Given the description of an element on the screen output the (x, y) to click on. 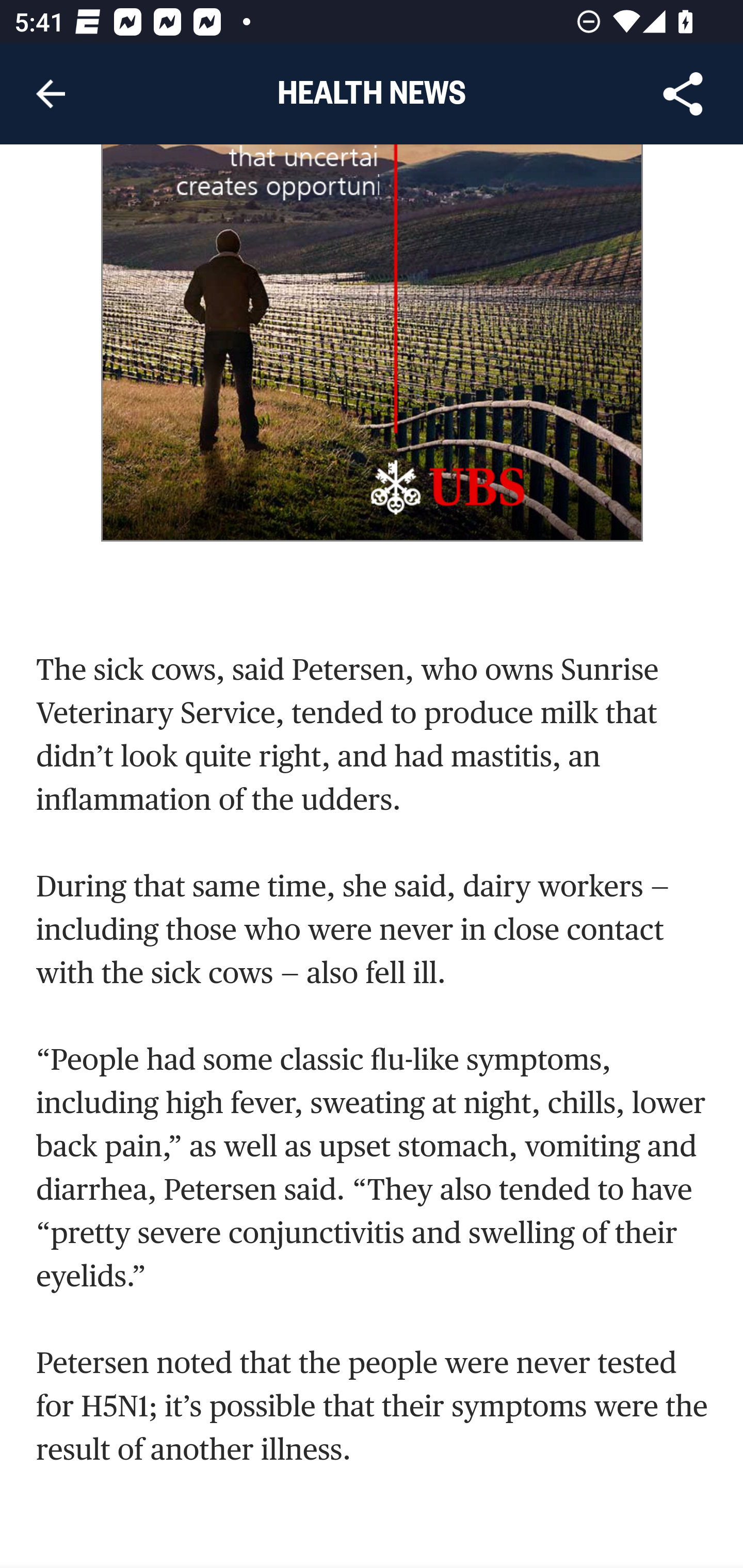
Navigate up (50, 93)
Share Article, button (683, 94)
